Given the description of an element on the screen output the (x, y) to click on. 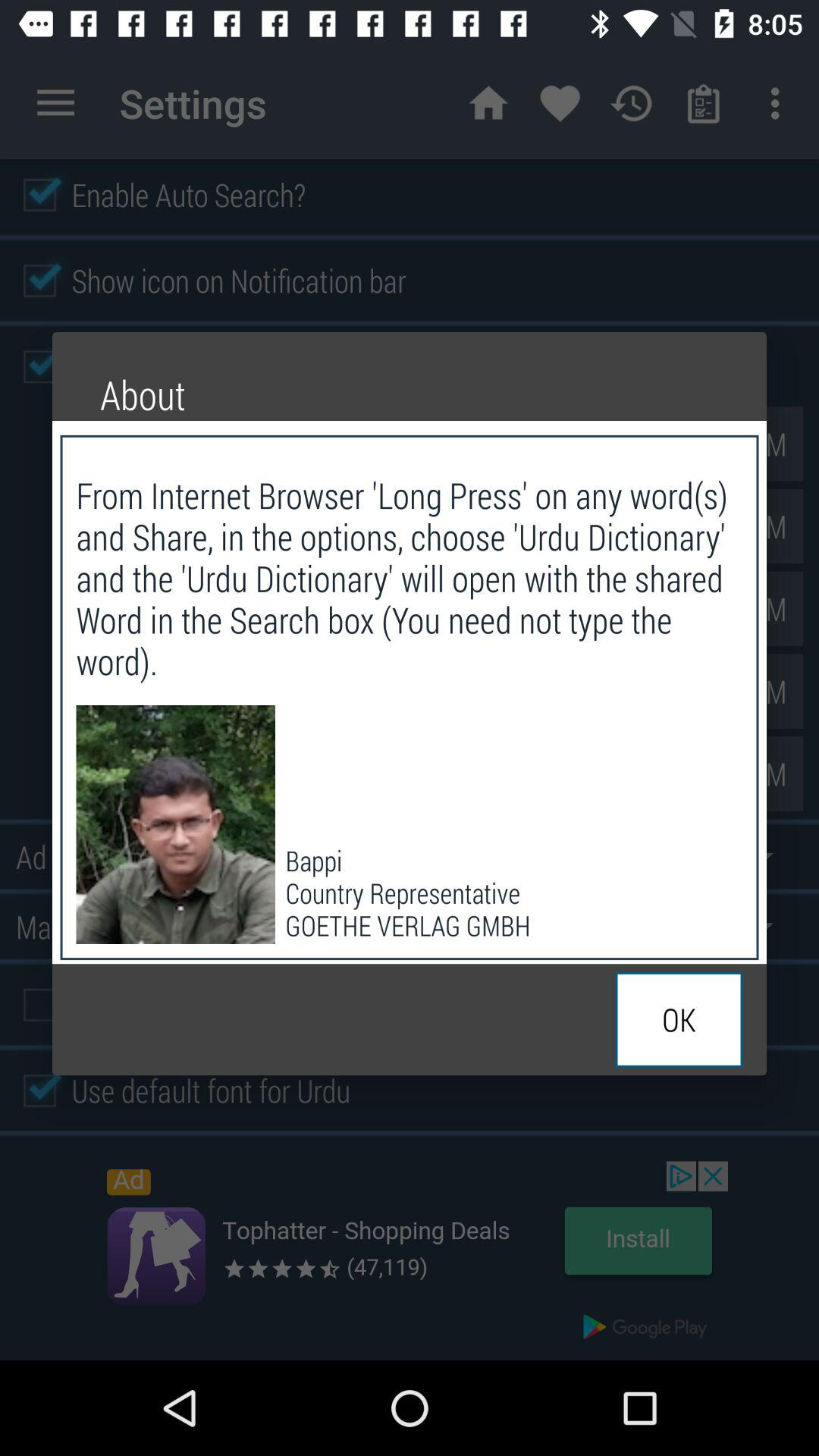
turn off item below the bappi country representative (678, 1019)
